Given the description of an element on the screen output the (x, y) to click on. 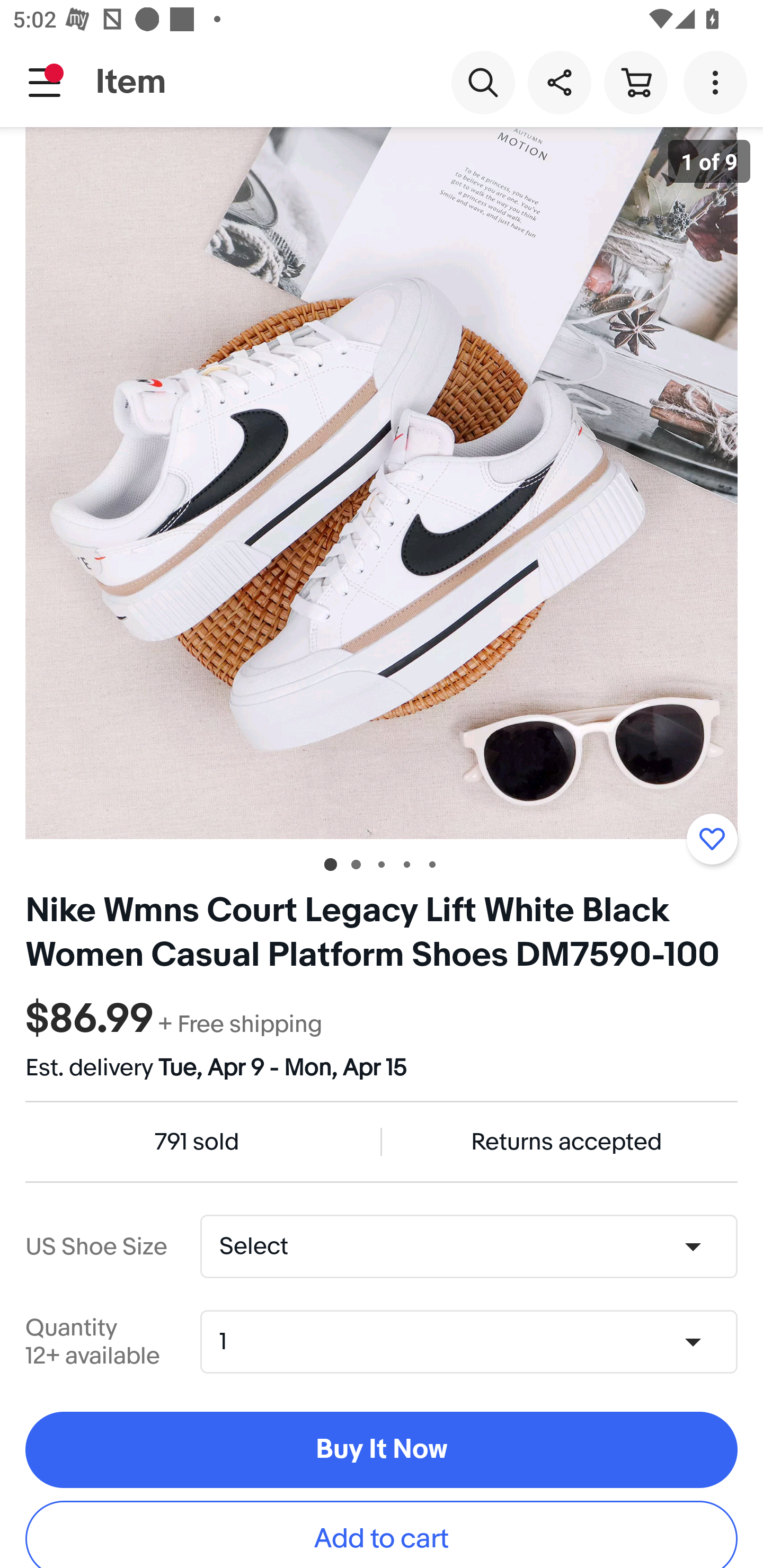
Main navigation, notification is pending, open (44, 82)
Search (482, 81)
Share this item (559, 81)
Cart button shopping cart (635, 81)
More options (718, 81)
Item image 1 of 9 (381, 482)
Add to watchlist (711, 838)
US Shoe Size,No selection Select (468, 1246)
Quantity,1,12+ available 1 (474, 1342)
Buy It Now (381, 1449)
Add to cart (381, 1534)
